Given the description of an element on the screen output the (x, y) to click on. 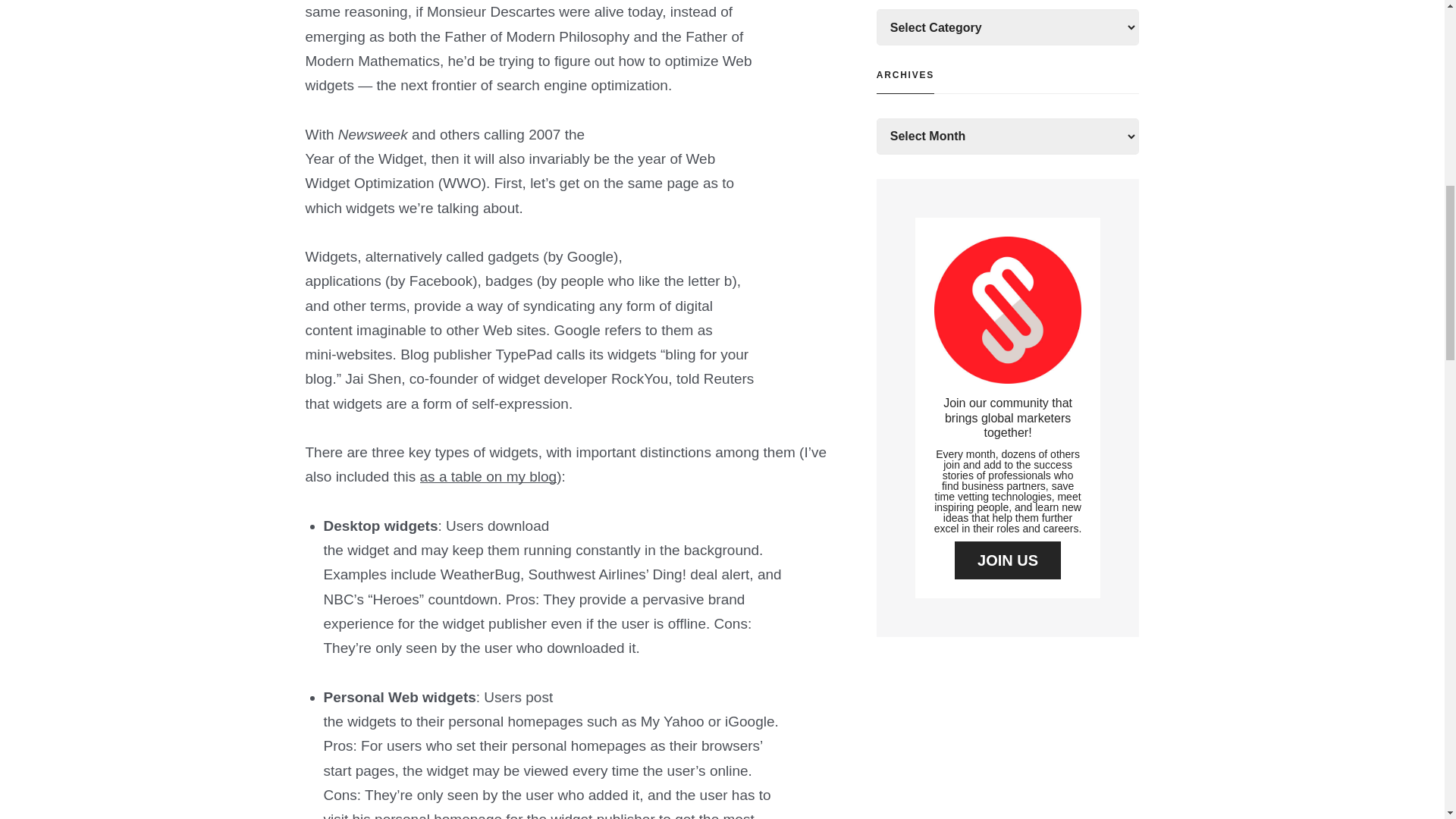
as a table on my blog (488, 476)
